Given the description of an element on the screen output the (x, y) to click on. 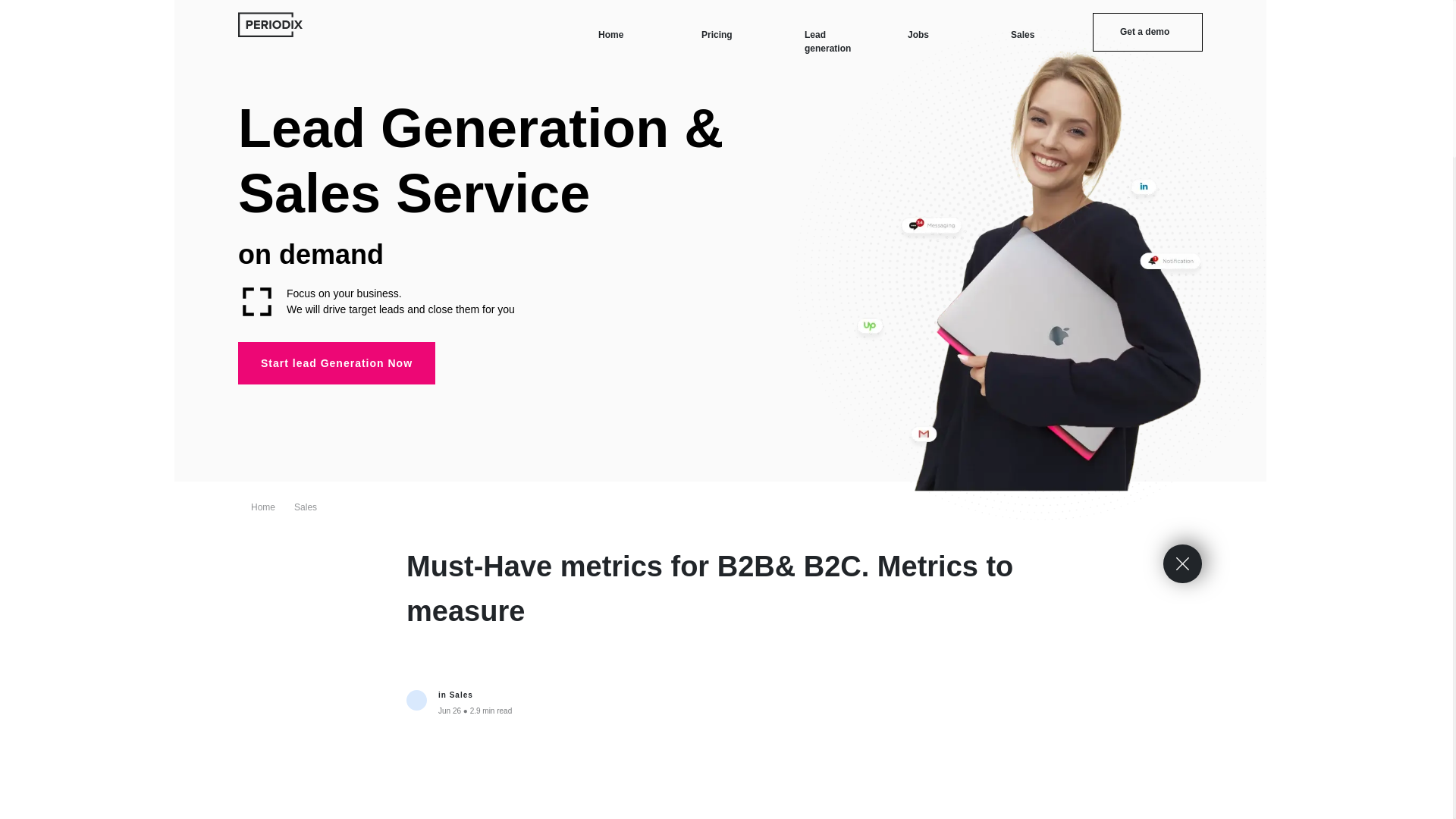
Start lead Generation Now (336, 363)
Sales (305, 507)
Home (262, 507)
Sales (461, 694)
Get a demo (1147, 31)
Jobs (917, 33)
Sales (1021, 33)
Pricing (716, 33)
Home (610, 33)
Lead generation (827, 40)
